Given the description of an element on the screen output the (x, y) to click on. 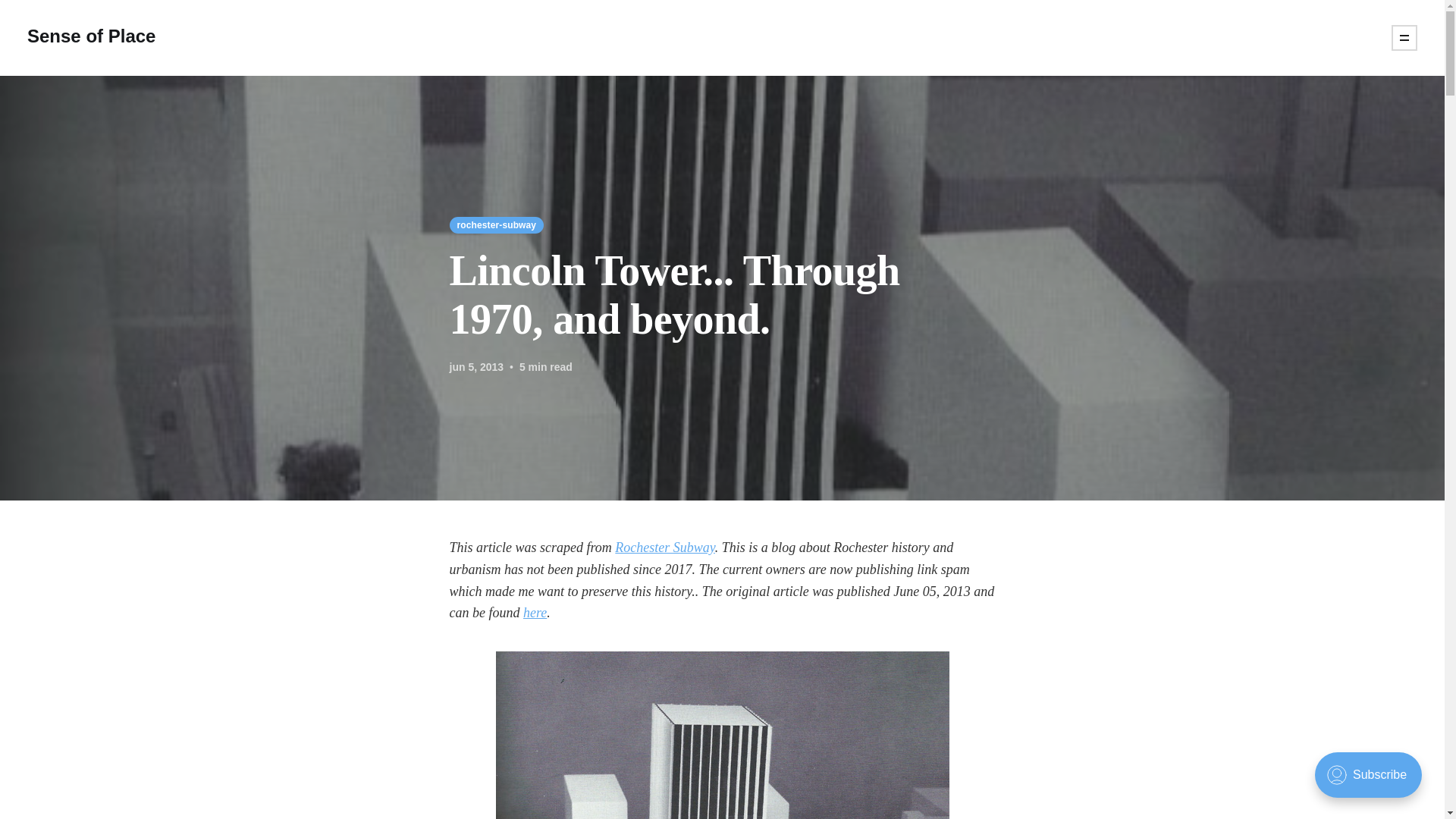
rochester-subway (495, 225)
Sense of Place (91, 37)
here (534, 612)
rochester-subway (495, 225)
Rochester Subway (664, 547)
